Given the description of an element on the screen output the (x, y) to click on. 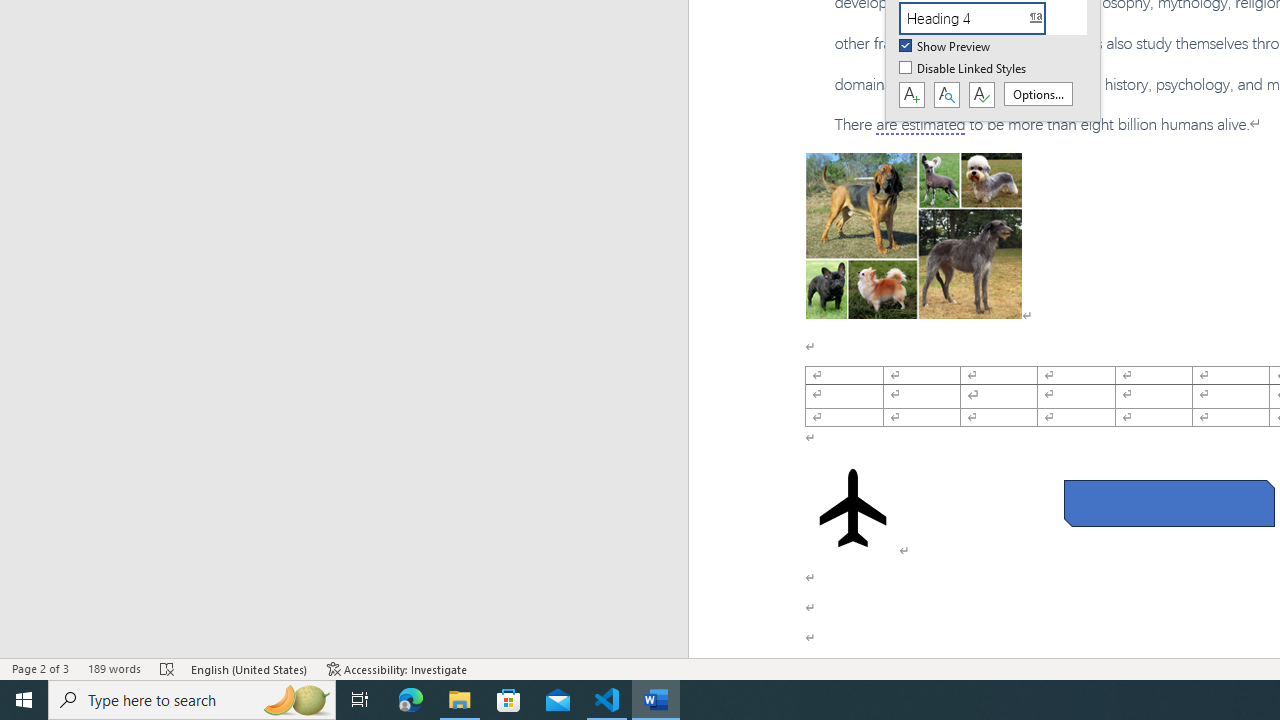
Show Preview (946, 47)
Start (24, 699)
Rectangle: Diagonal Corners Snipped 2 (1168, 503)
Class: NetUIButton (981, 95)
Heading 4 (984, 18)
Options... (1037, 93)
Type here to search (191, 699)
Spelling and Grammar Check Errors (168, 668)
Microsoft Edge (411, 699)
Microsoft Store (509, 699)
Task View (359, 699)
Morphological variation in six dogs (913, 235)
